Given the description of an element on the screen output the (x, y) to click on. 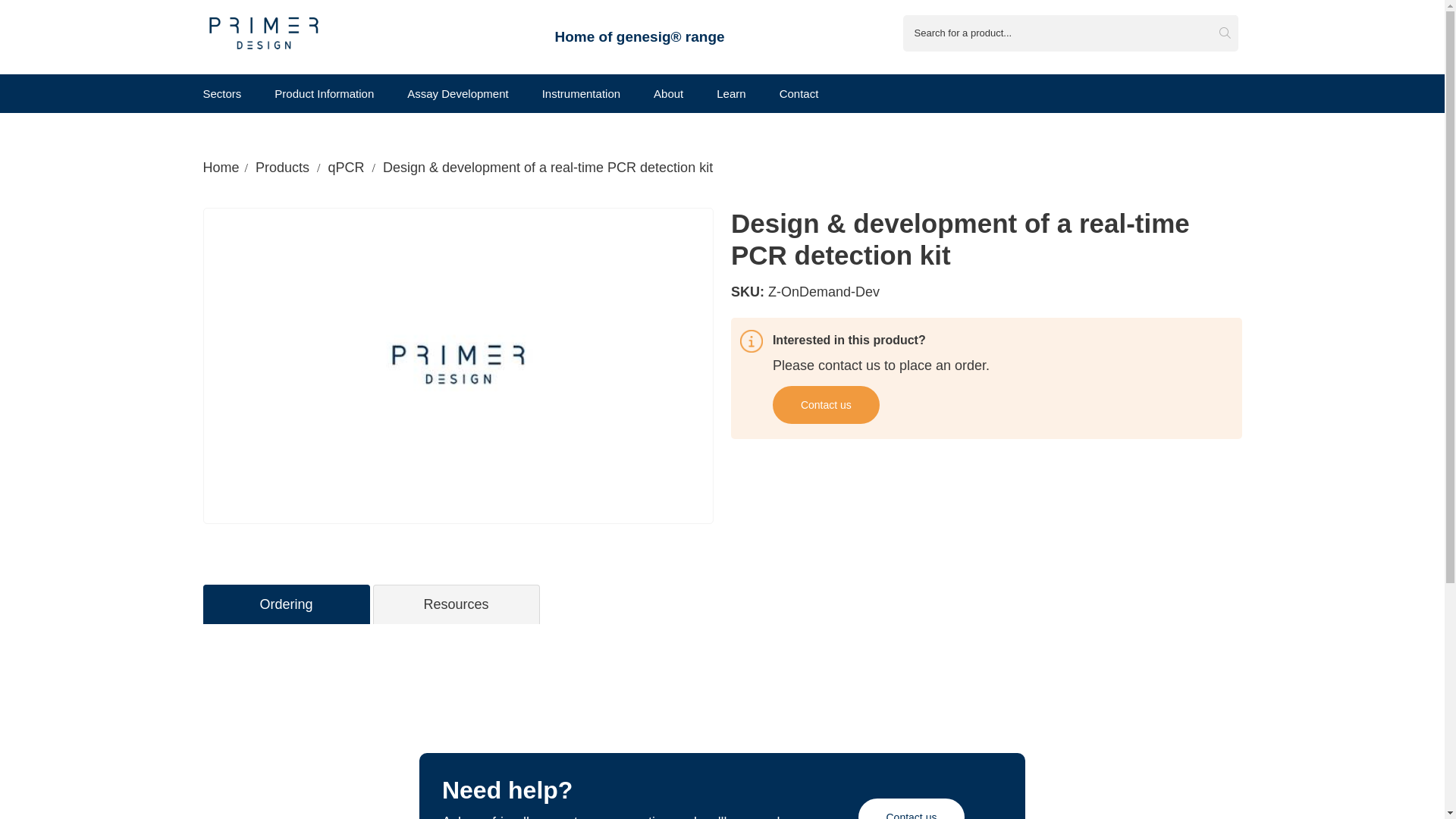
qPCR (345, 167)
Product Information (324, 92)
Contact (798, 92)
Assay Development (457, 92)
About (667, 92)
Learn (730, 92)
Instrumentation (580, 92)
Ordering (286, 604)
Home (221, 167)
Sectors (222, 92)
Contact us (826, 404)
Resources (455, 604)
Contact us (912, 808)
Products (282, 167)
